Given the description of an element on the screen output the (x, y) to click on. 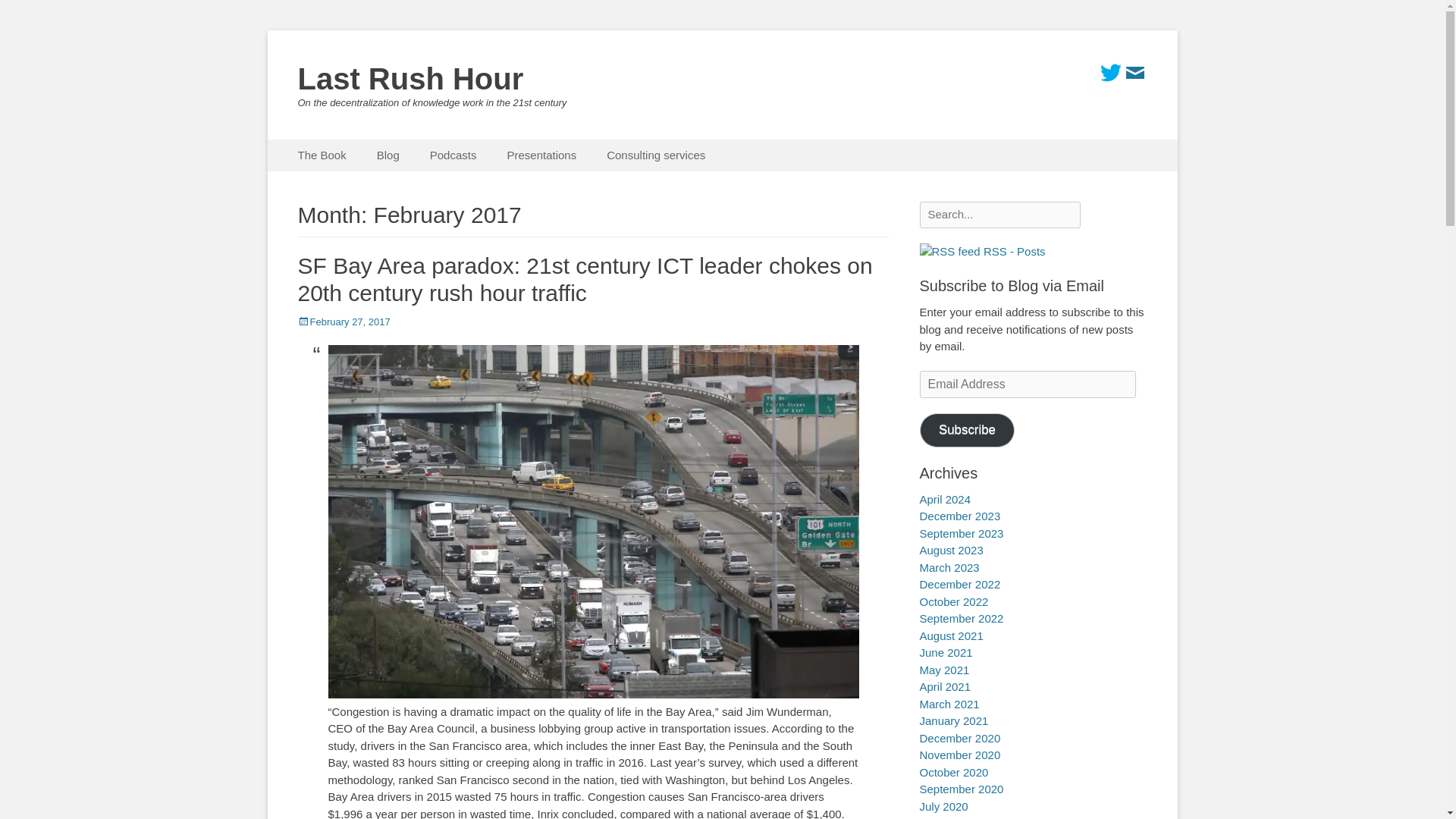
Email (1134, 72)
Blog (387, 155)
Subscribe to posts (981, 250)
Search for: (999, 214)
February 27, 2017 (343, 321)
Email (1134, 72)
Consulting services (655, 155)
The Book (321, 155)
Last Rush Hour (409, 78)
Presentations (541, 155)
Podcasts (453, 155)
